Given the description of an element on the screen output the (x, y) to click on. 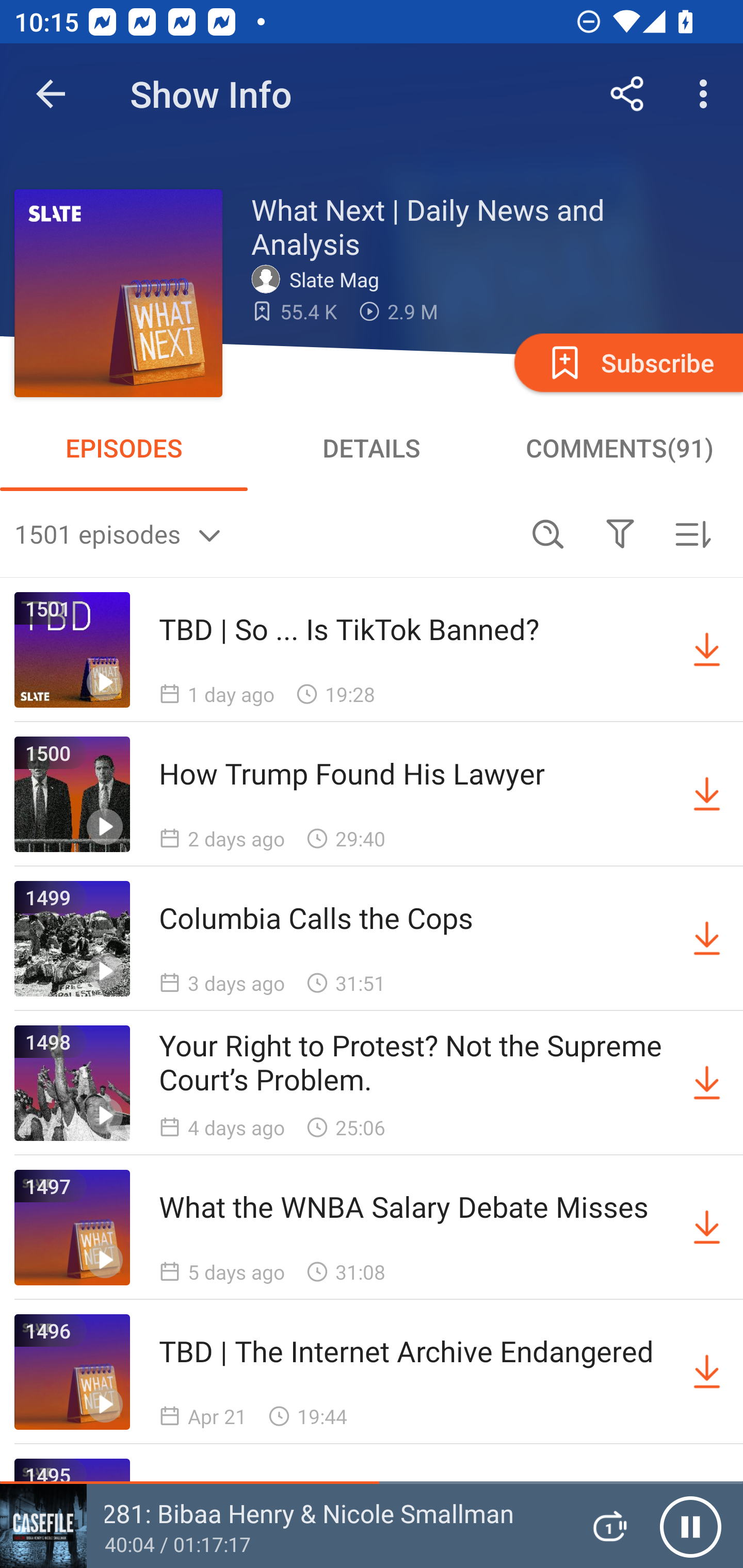
Navigate up (50, 93)
Share (626, 93)
More options (706, 93)
Slate Mag (319, 278)
Subscribe (627, 361)
EPISODES (123, 447)
DETAILS (371, 447)
COMMENTS(91) (619, 447)
1501 episodes  (262, 533)
 Search (547, 533)
 (619, 533)
 Sorted by newest first (692, 533)
Download (706, 649)
Download (706, 793)
Download (706, 939)
Download (706, 1083)
Download (706, 1227)
Download (706, 1371)
Pause (690, 1526)
